Given the description of an element on the screen output the (x, y) to click on. 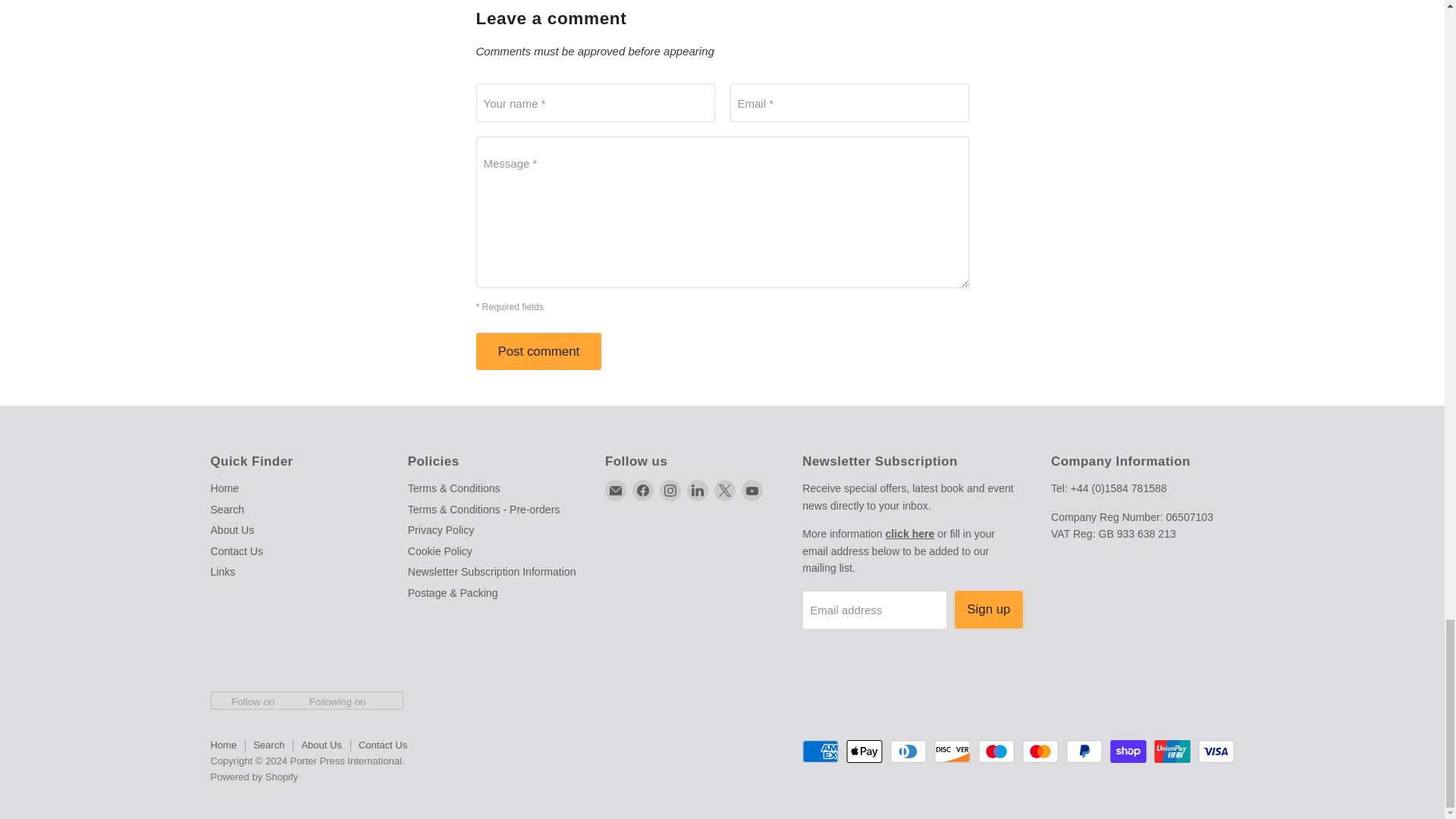
Facebook (642, 490)
Diners Club (907, 751)
YouTube (751, 490)
Email (615, 490)
Apple Pay (863, 751)
Porter Press Newsletter (909, 533)
Instagram (670, 490)
X (724, 490)
American Express (820, 751)
LinkedIn (697, 490)
